Given the description of an element on the screen output the (x, y) to click on. 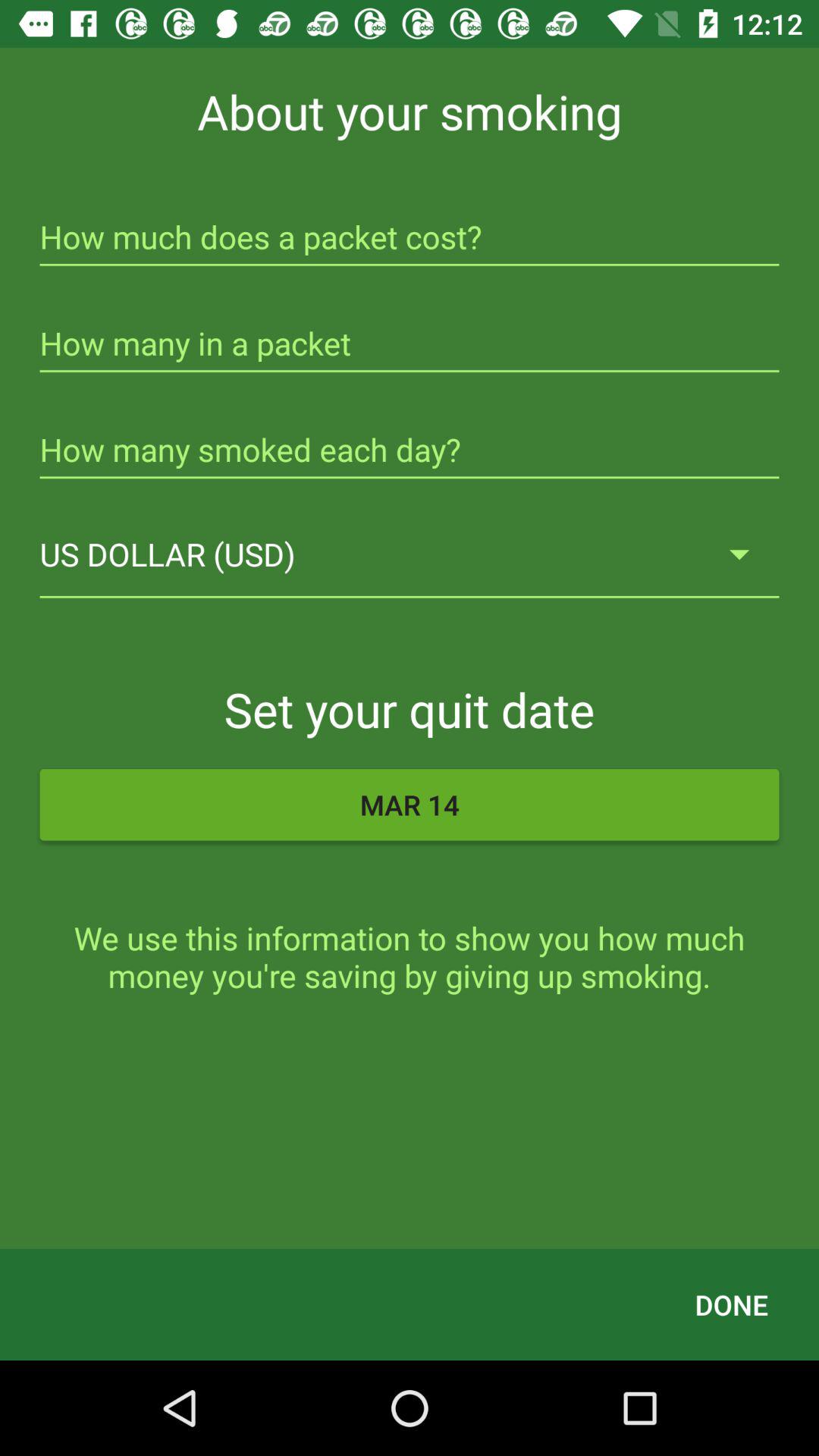
swipe until the mar 14 (409, 804)
